Given the description of an element on the screen output the (x, y) to click on. 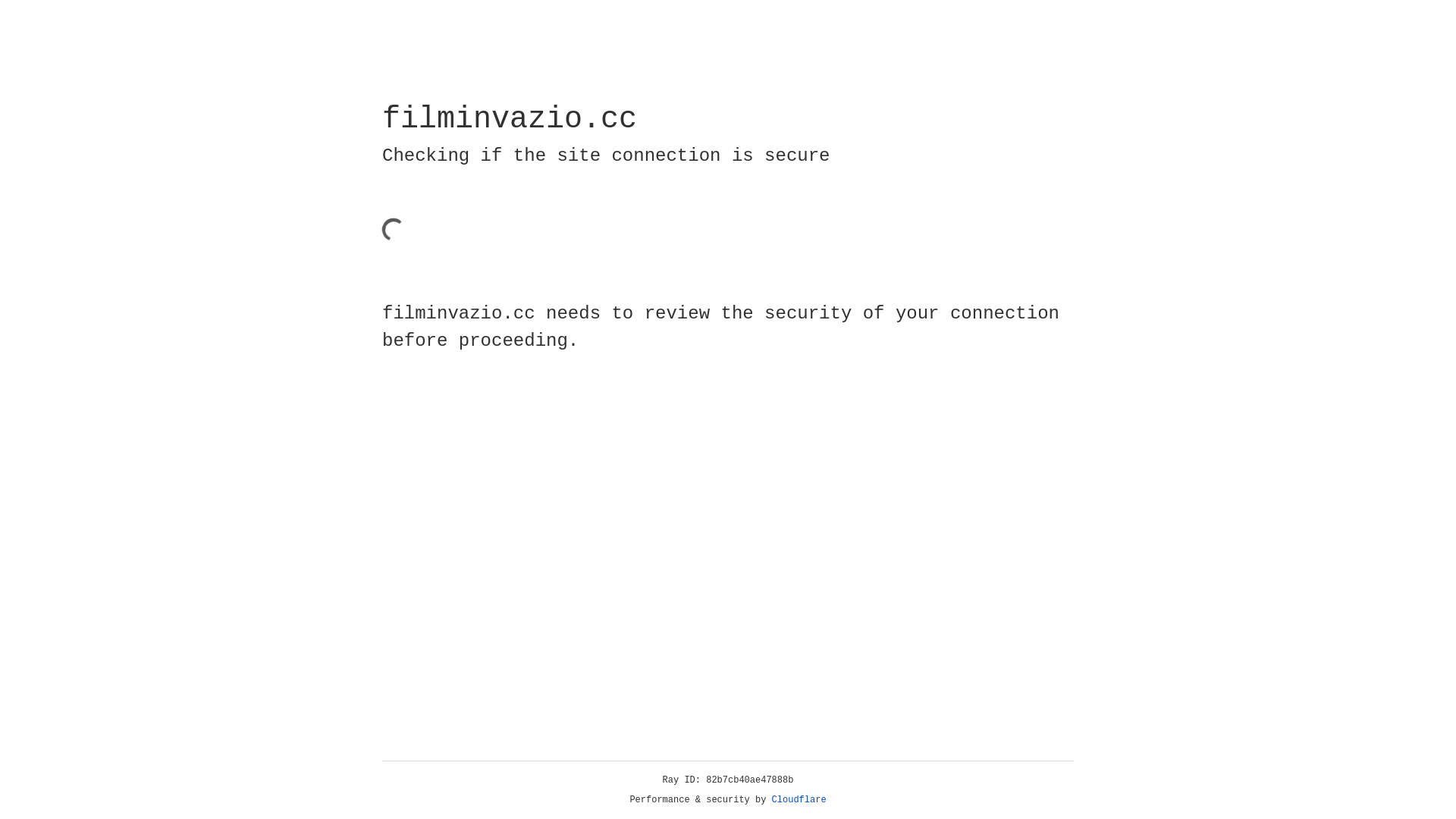
Cloudflare Element type: text (798, 799)
